Given the description of an element on the screen output the (x, y) to click on. 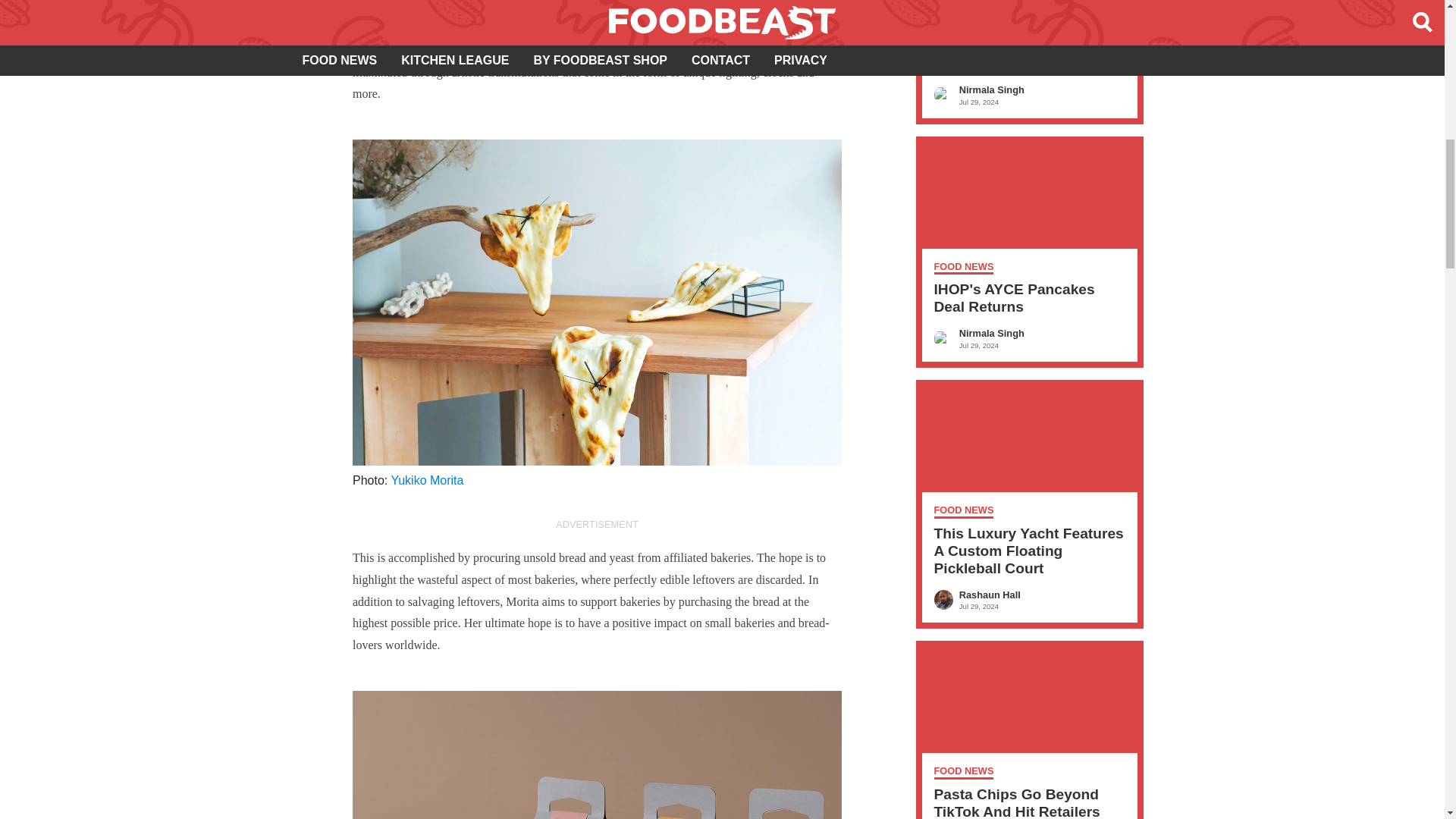
Yukiko Morita (426, 480)
